Given the description of an element on the screen output the (x, y) to click on. 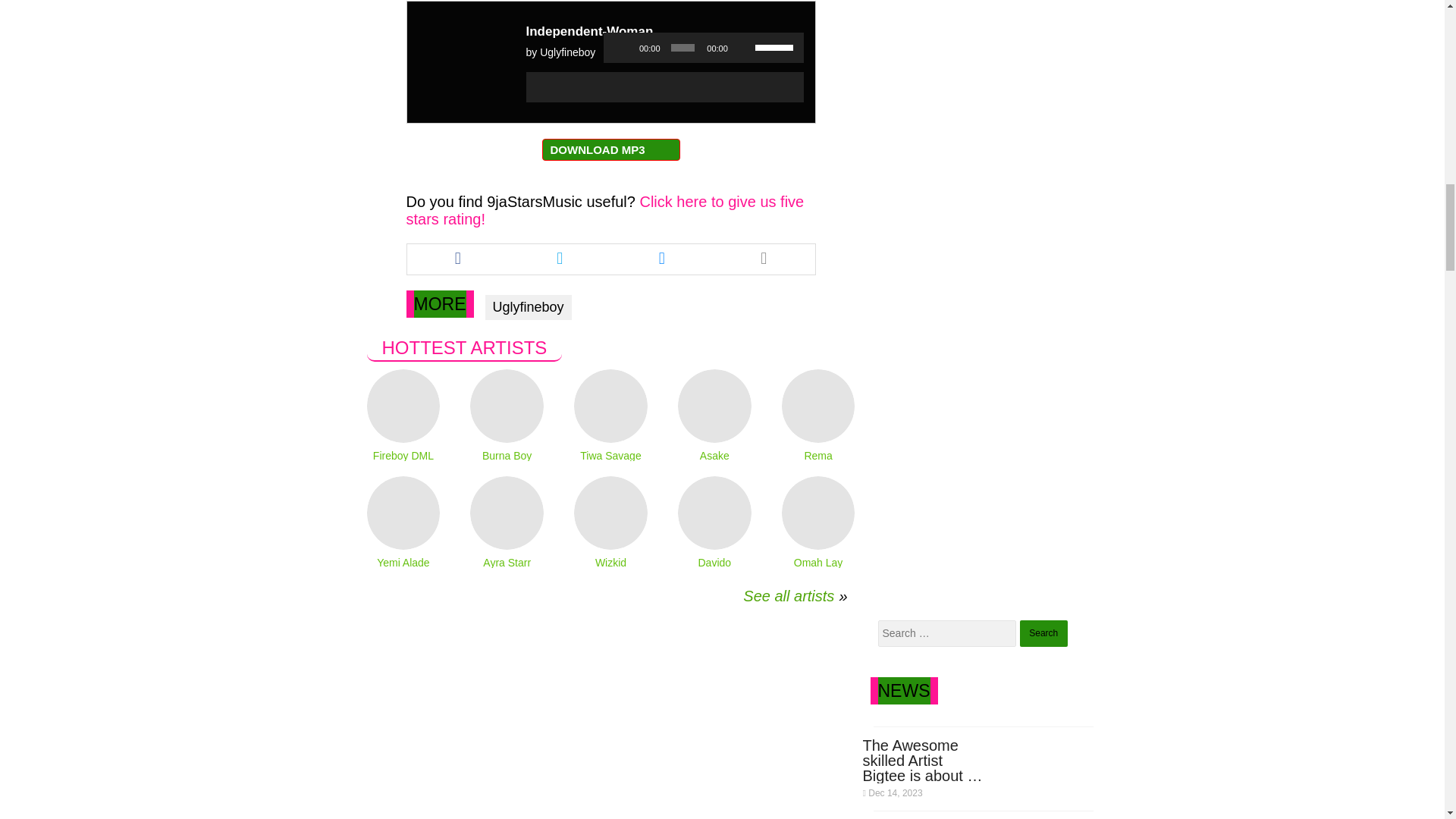
Search (1043, 633)
Search (1043, 633)
Play (622, 47)
Mute (743, 47)
